Given the description of an element on the screen output the (x, y) to click on. 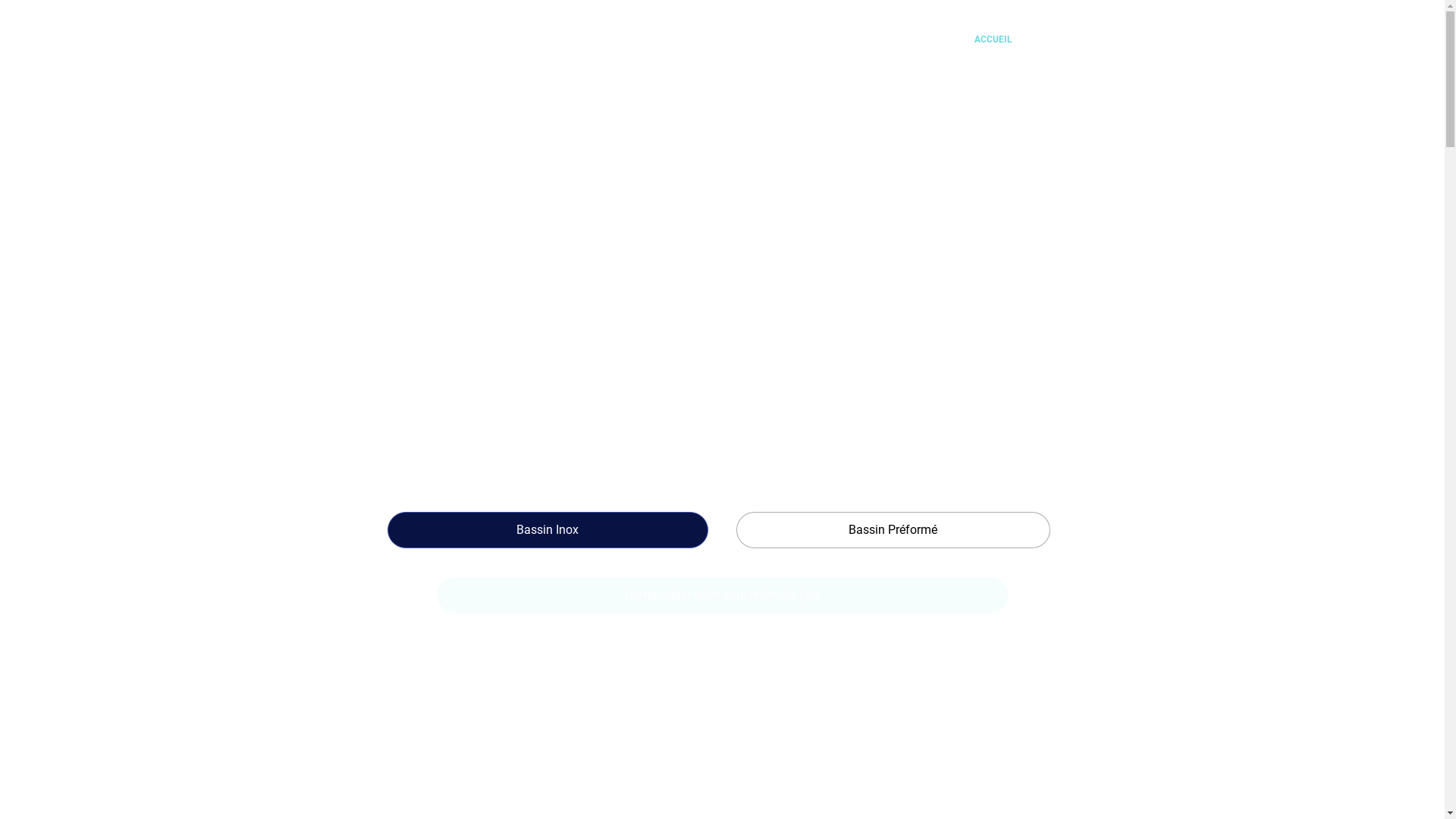
ASTIERJUSTIN Element type: text (1062, 40)
PISCINE INOX Element type: text (1140, 40)
Bassin Inox Element type: text (547, 529)
Passer au contenu Element type: text (15, 7)
ACCUEIL Element type: text (992, 40)
Commander votre couverture de Spa Element type: text (722, 595)
